Given the description of an element on the screen output the (x, y) to click on. 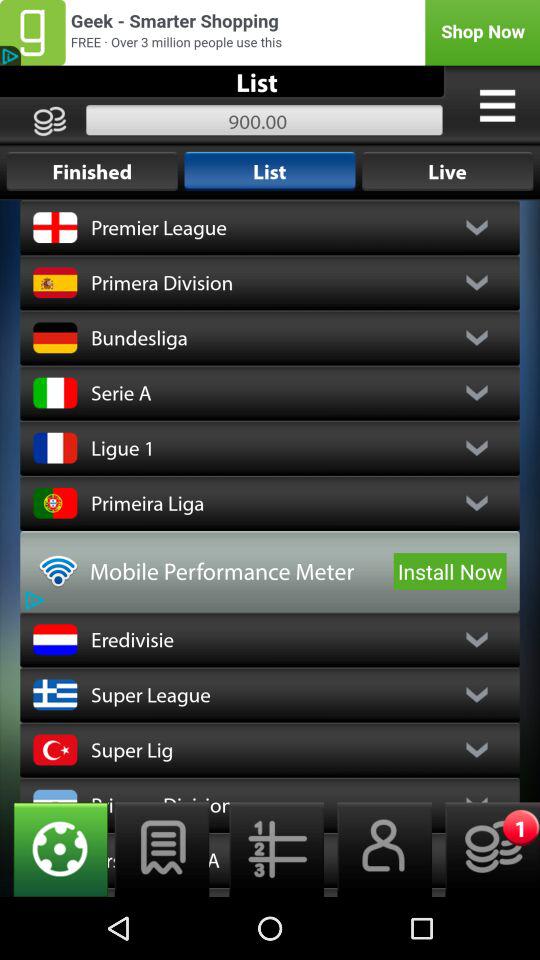
press icon above  eredivisie item (449, 571)
